Given the description of an element on the screen output the (x, y) to click on. 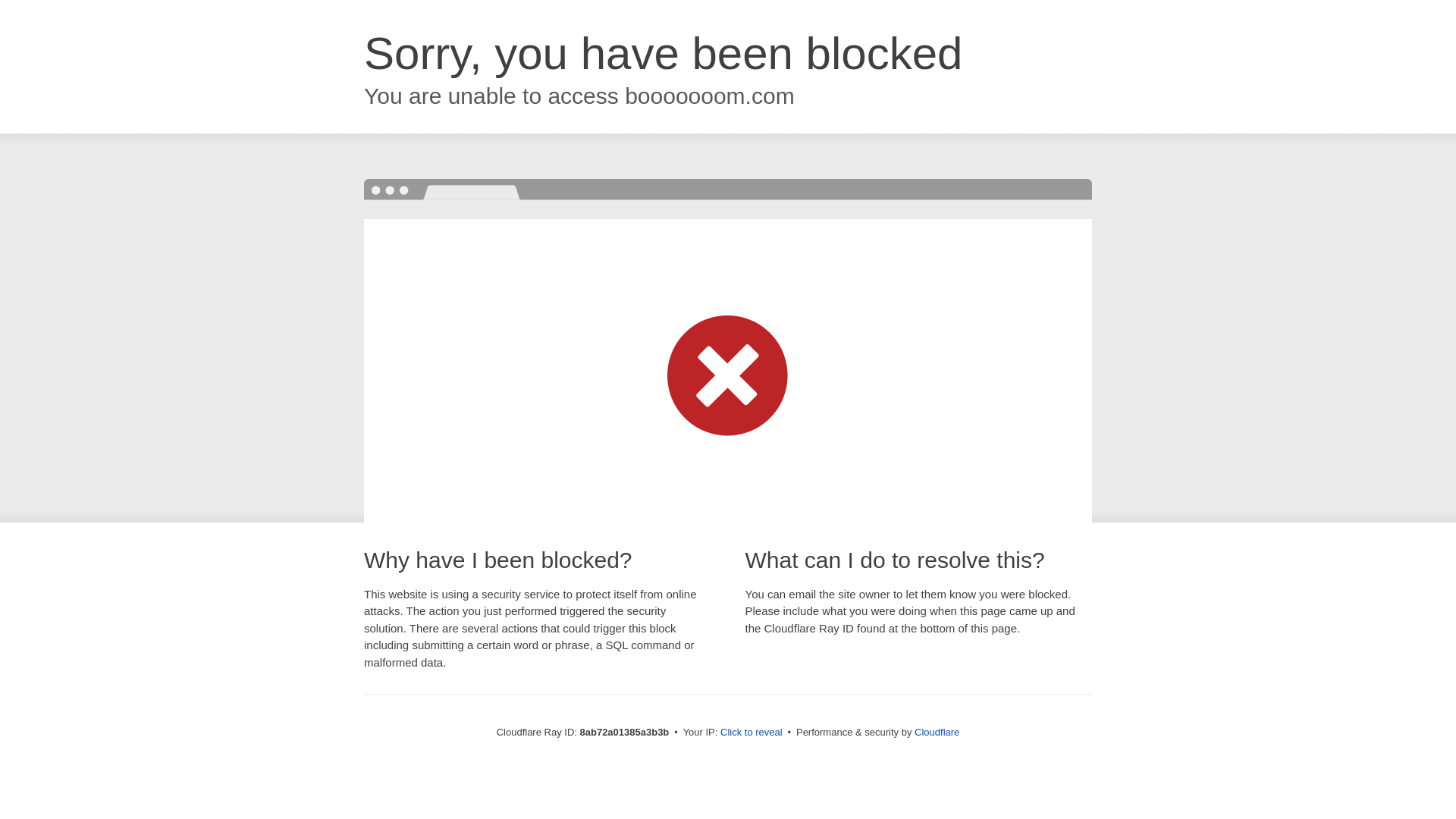
Cloudflare (936, 731)
Click to reveal (751, 732)
